Given the description of an element on the screen output the (x, y) to click on. 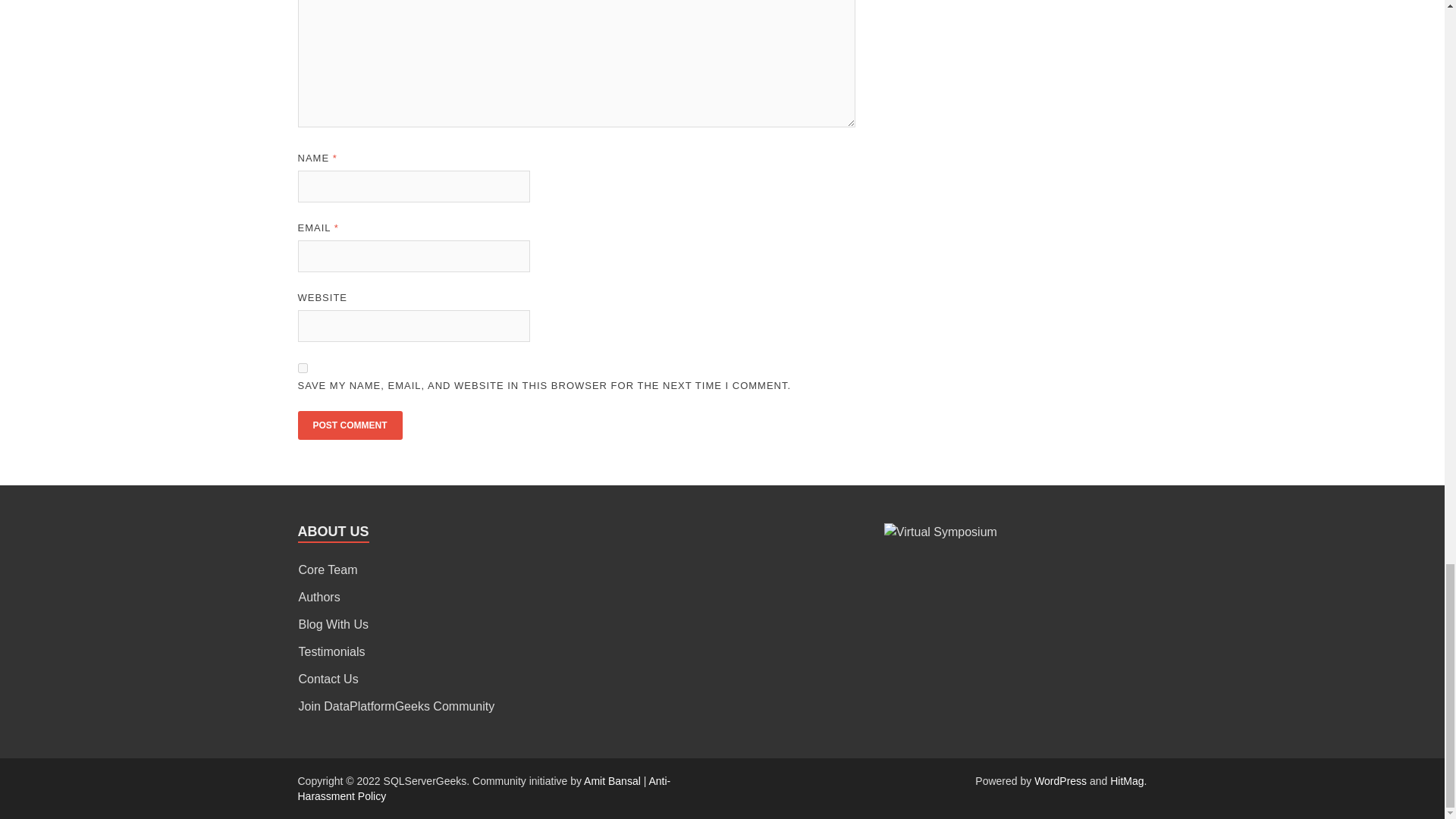
WordPress (1059, 780)
Post Comment (349, 425)
HitMag WordPress Theme (1125, 780)
yes (302, 368)
